Given the description of an element on the screen output the (x, y) to click on. 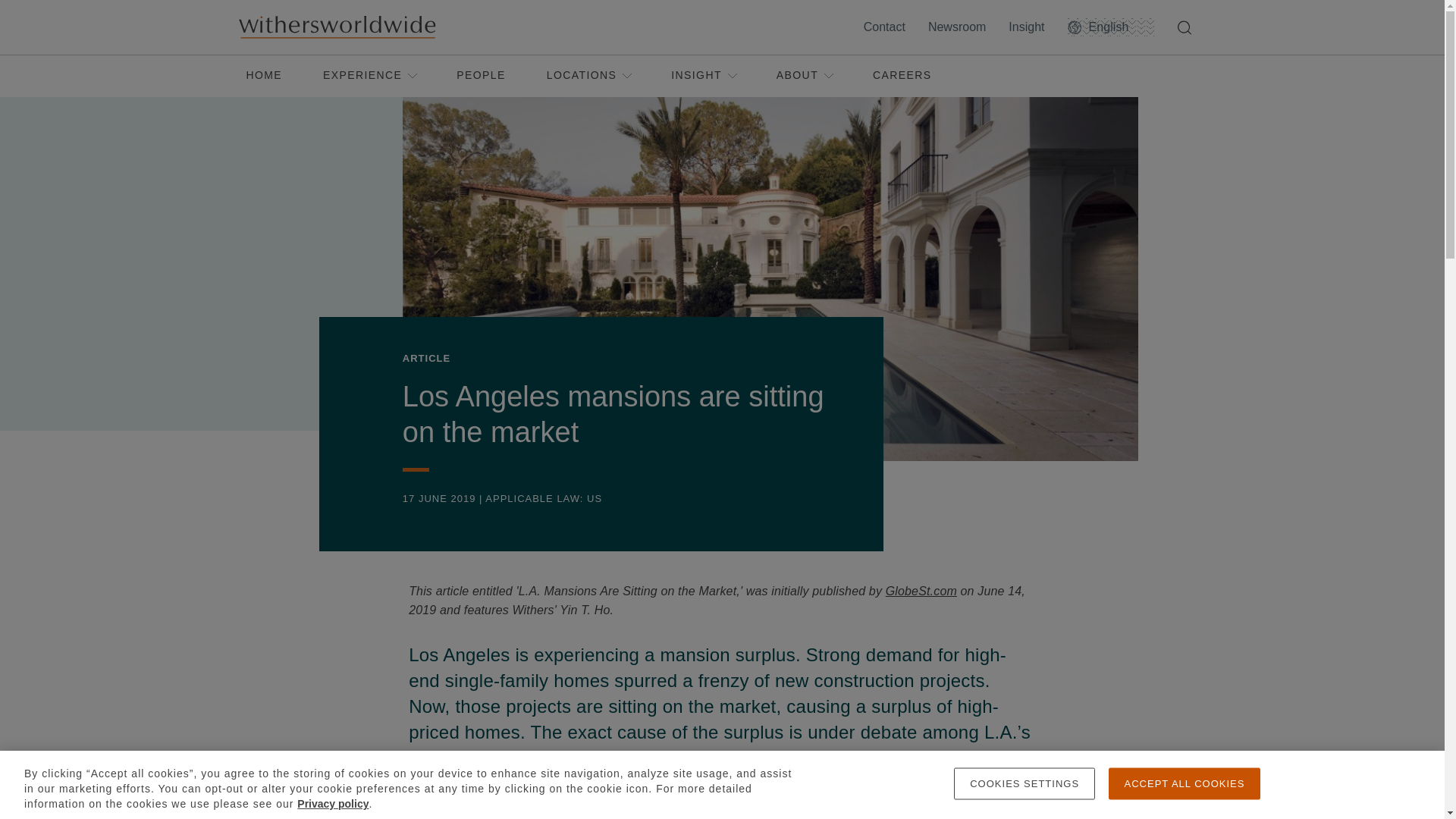
Newsroom (960, 27)
HOME (263, 75)
Home (336, 26)
Insight (1030, 27)
Search (1187, 27)
Contact (888, 27)
